Given the description of an element on the screen output the (x, y) to click on. 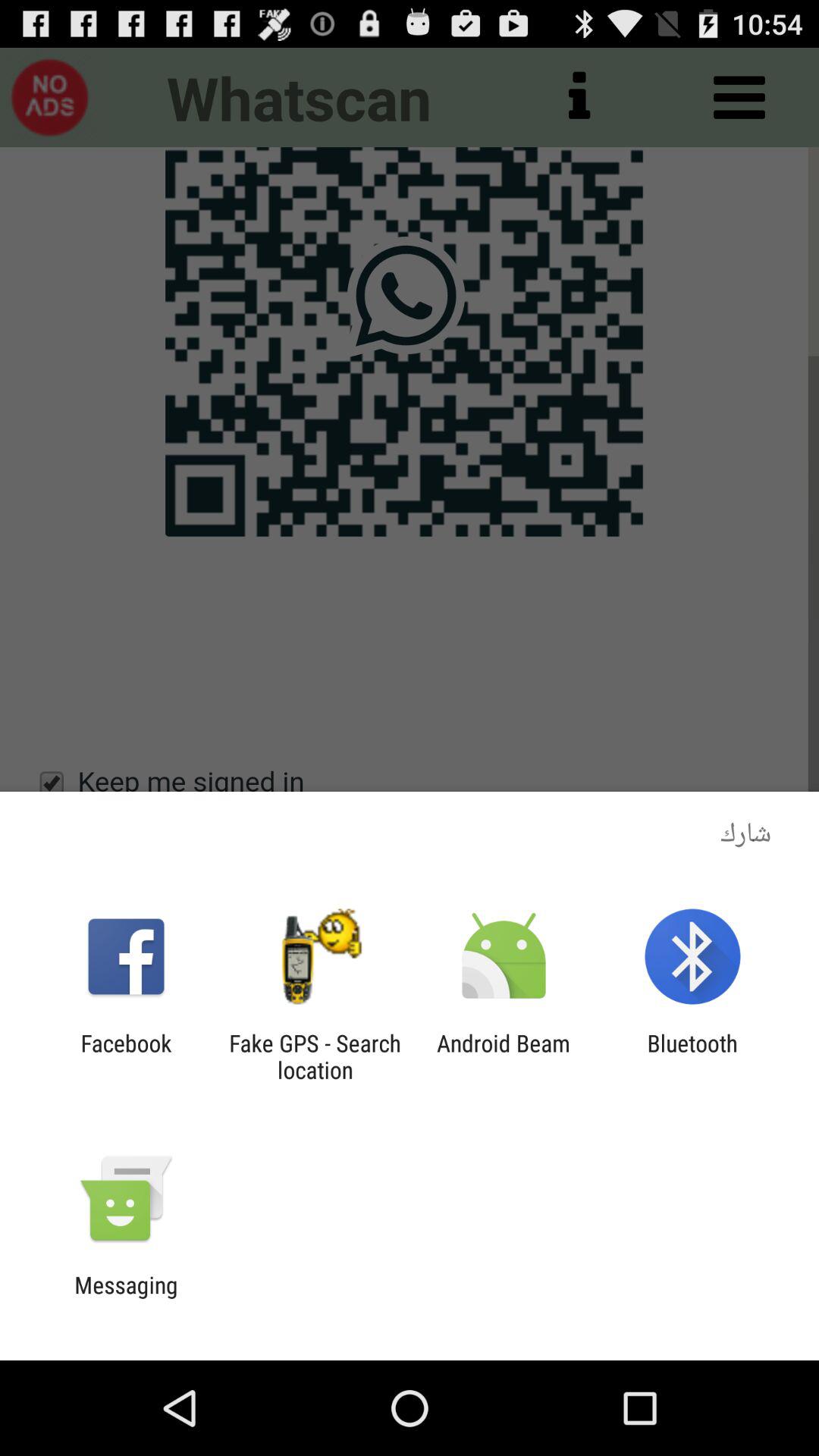
tap item next to the fake gps search icon (125, 1056)
